Given the description of an element on the screen output the (x, y) to click on. 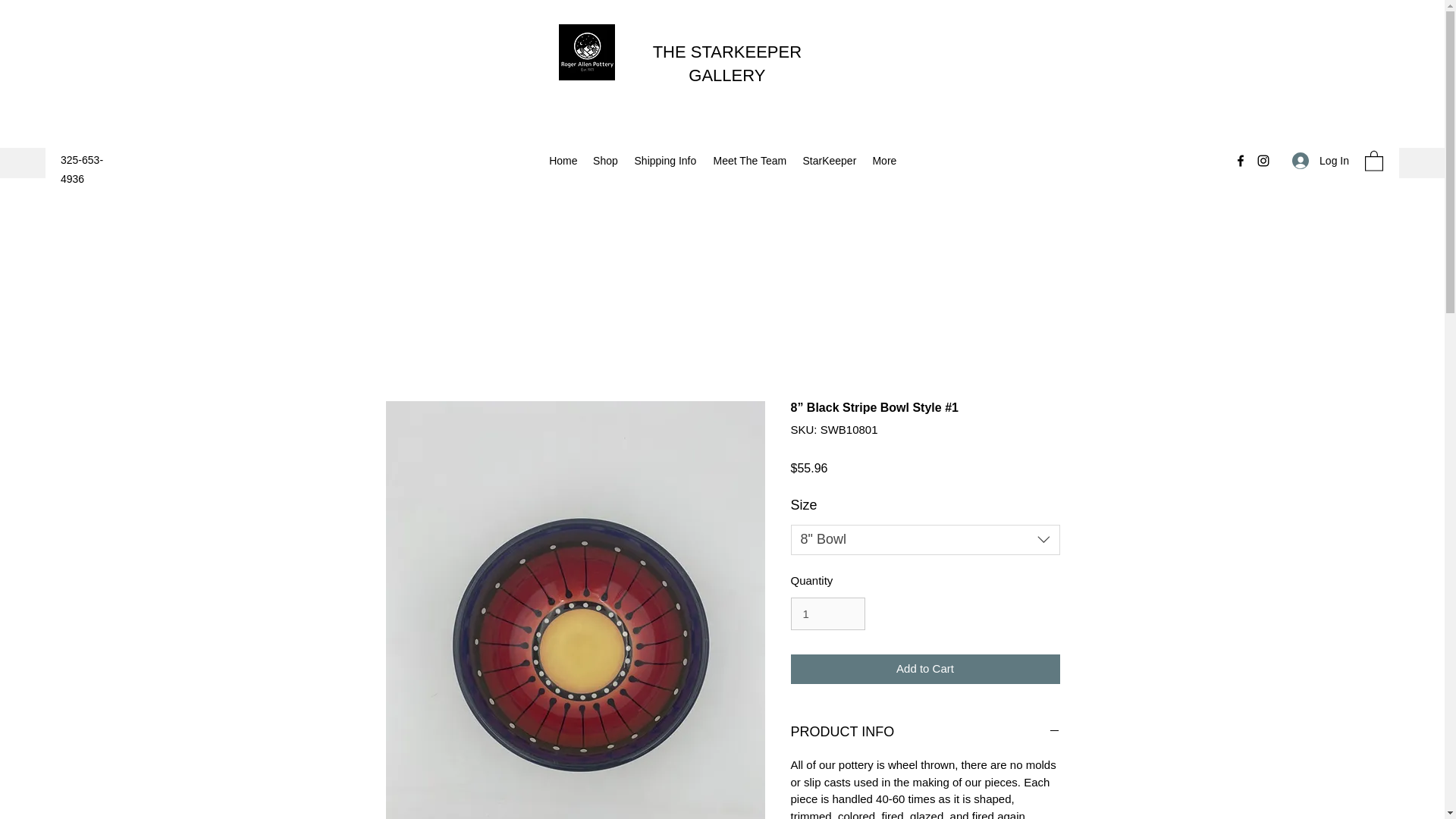
Home (563, 160)
Shipping Info (665, 160)
PRODUCT INFO (924, 732)
THE STARKEEPER GALLERY (727, 63)
Add to Cart (924, 668)
Shop (605, 160)
Log In (1320, 161)
StarKeeper (829, 160)
1 (827, 613)
Meet The Team (749, 160)
8" Bowl (924, 539)
